Given the description of an element on the screen output the (x, y) to click on. 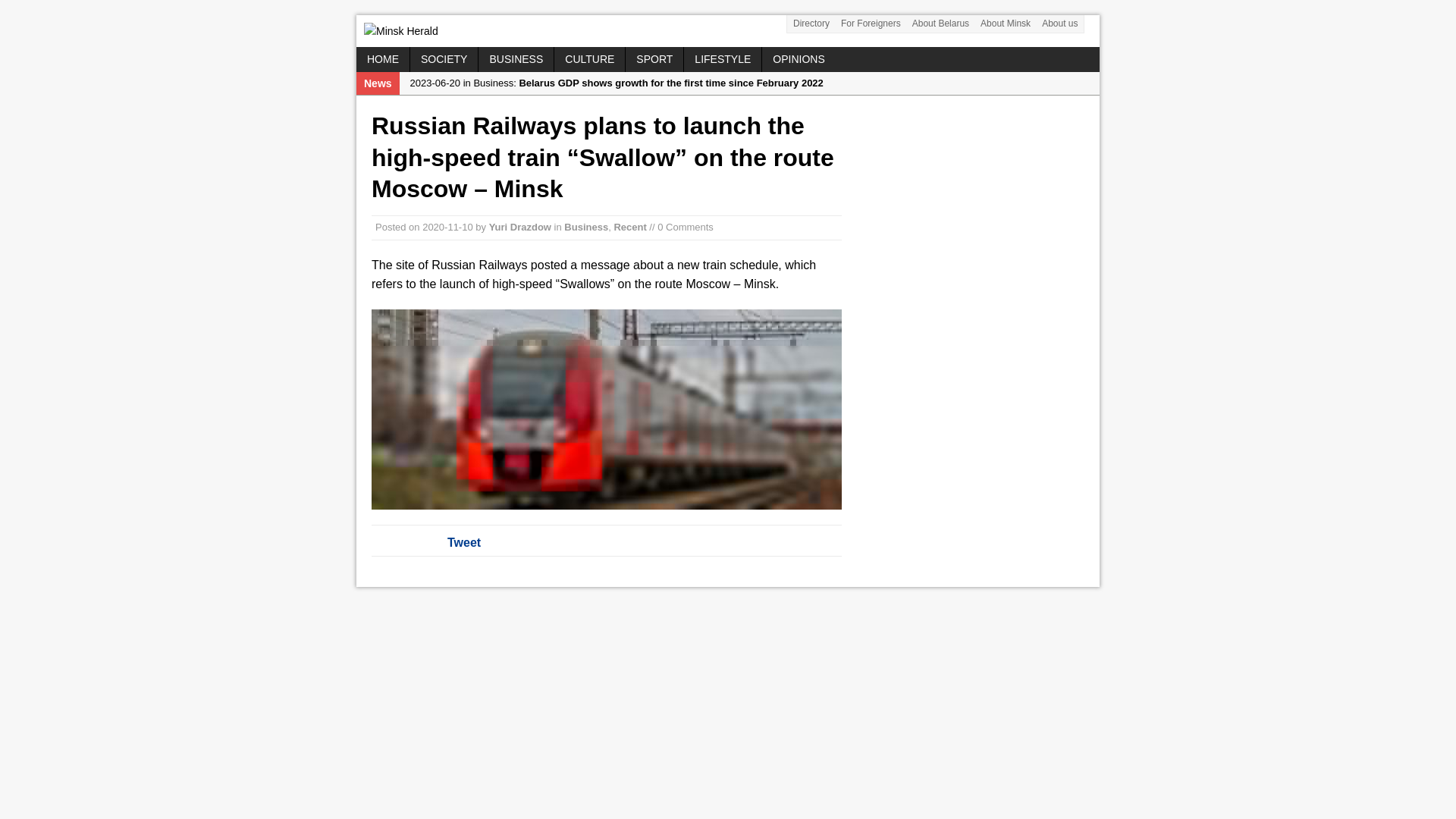
OPINIONS (797, 58)
Recent (629, 226)
SPORT (654, 58)
LIFESTYLE (722, 58)
Minsk Herald (727, 30)
Yuri Drazdow (520, 226)
About Belarus (939, 23)
Tweet (463, 542)
BUSINESS (516, 58)
About Minsk (1005, 23)
